Given the description of an element on the screen output the (x, y) to click on. 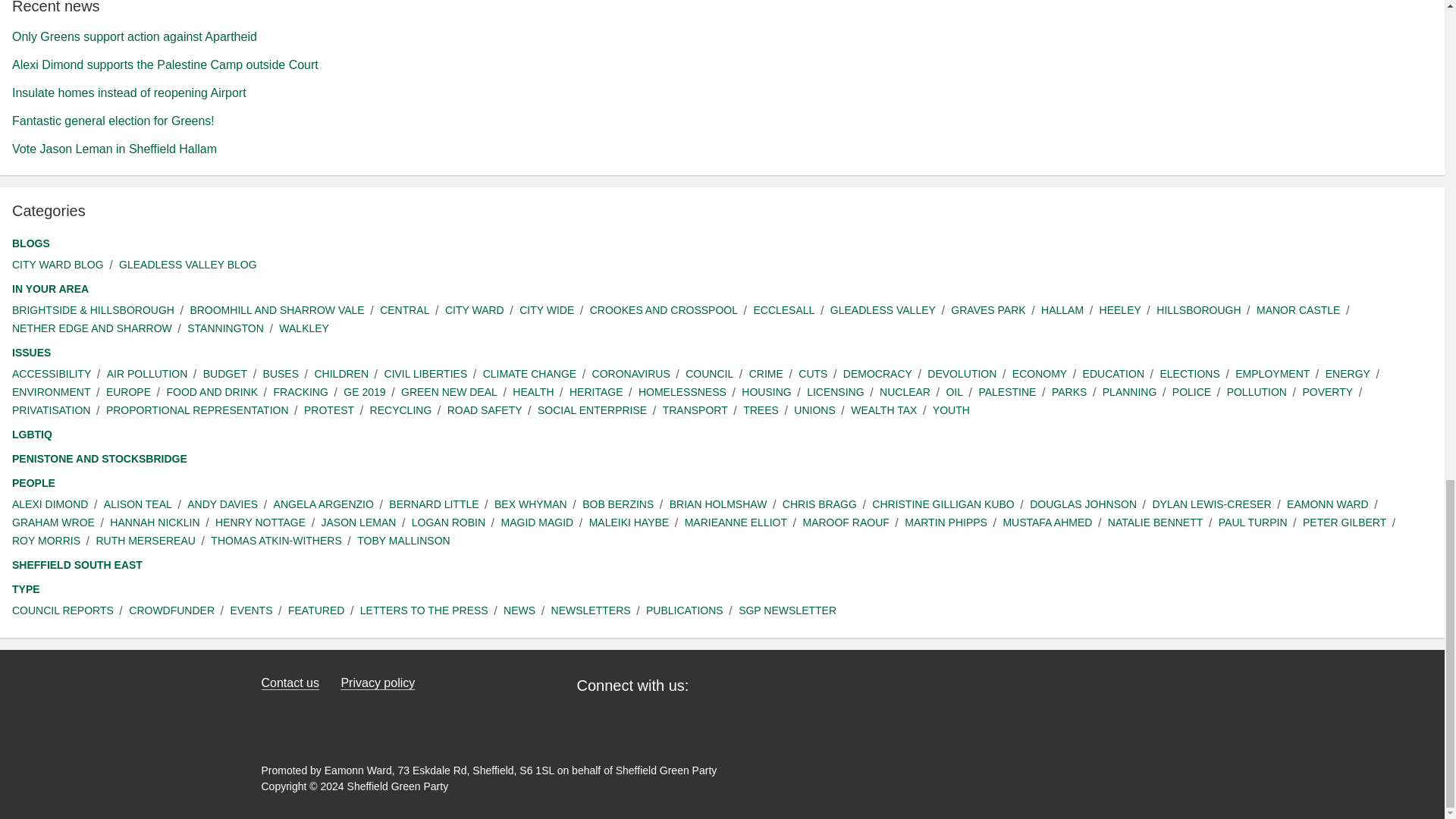
IN YOUR AREA (49, 289)
BROOMHILL AND SHARROW VALE (276, 310)
Vote Jason Leman in Sheffield Hallam (113, 148)
GLEADLESS VALLEY BLOG (188, 264)
Alexi Dimond supports the Palestine Camp outside Court (164, 64)
CITY WARD (474, 310)
CITY WARD BLOG (57, 264)
CENTRAL (404, 310)
Fantastic general election for Greens! (112, 120)
CROOKES AND CROSSPOOL (663, 310)
